Given the description of an element on the screen output the (x, y) to click on. 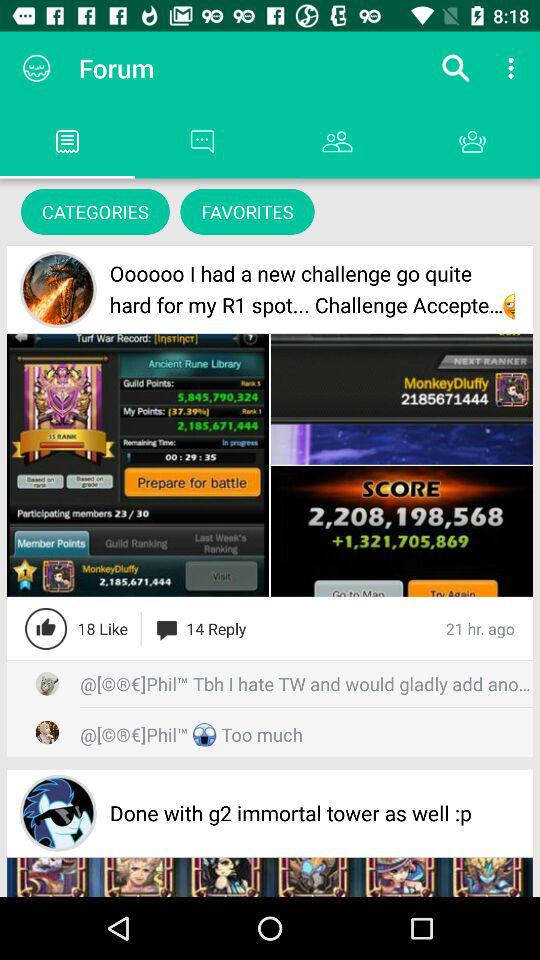
like button (46, 628)
